Given the description of an element on the screen output the (x, y) to click on. 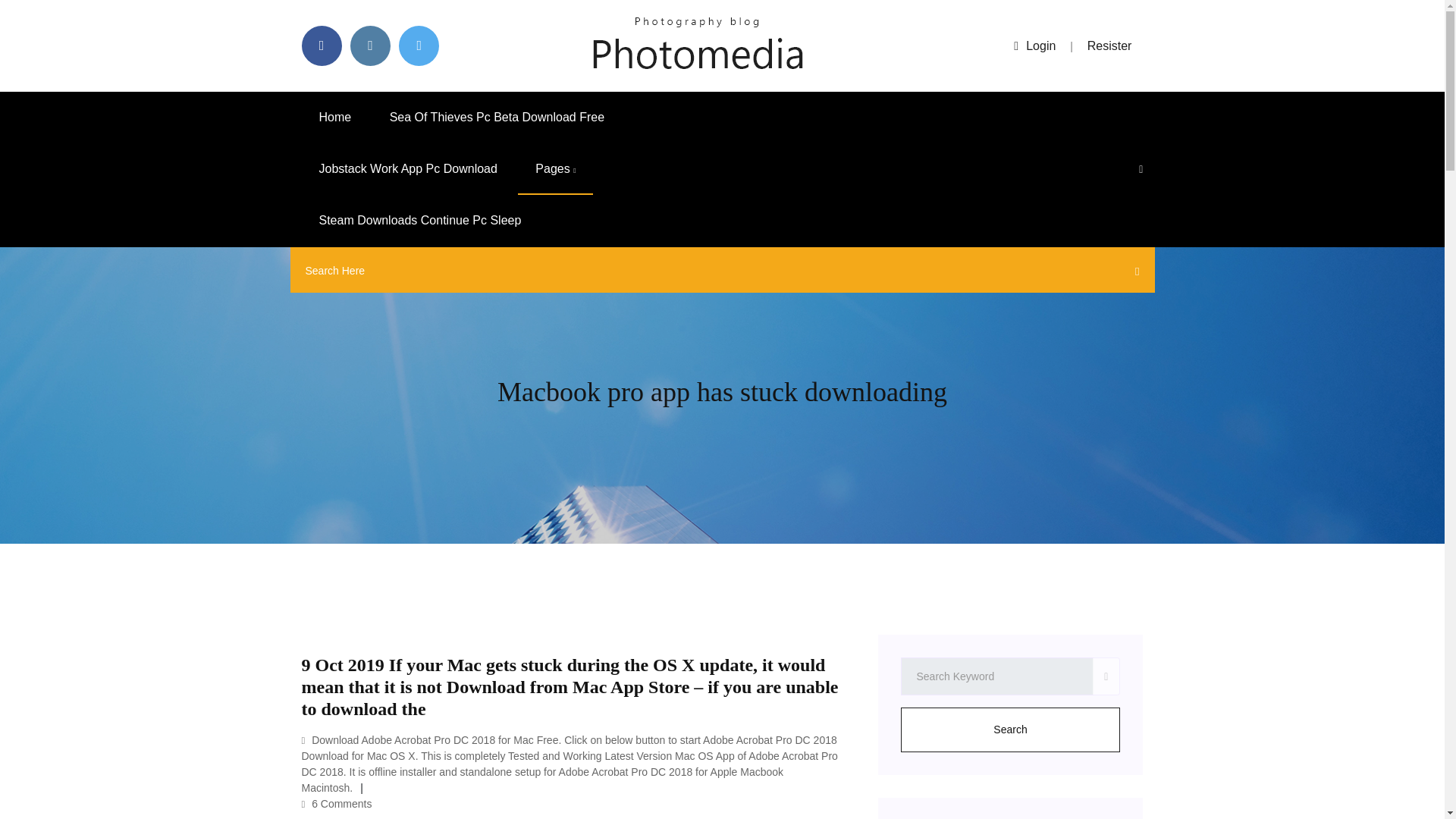
Steam Downloads Continue Pc Sleep (419, 220)
Sea Of Thieves Pc Beta Download Free (496, 117)
Pages (555, 168)
Login (1034, 45)
Home (335, 117)
6 Comments (336, 803)
Jobstack Work App Pc Download (408, 168)
Resister (1109, 45)
